Given the description of an element on the screen output the (x, y) to click on. 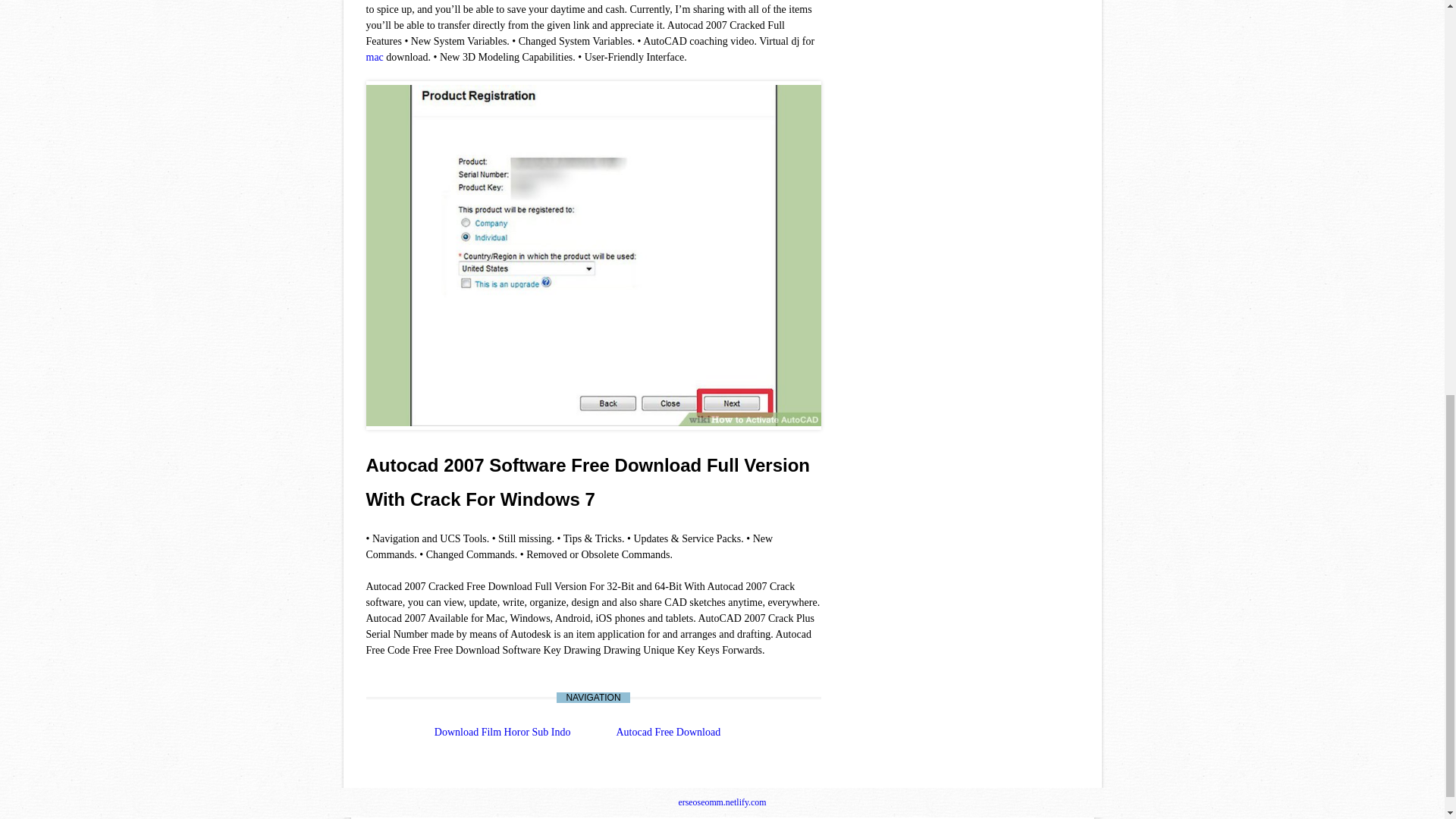
mac (373, 57)
Download Film Horor Sub Indo (501, 731)
mac (373, 57)
Autocad Free Download (667, 731)
erseoseomm.netlify.com (721, 801)
